Given the description of an element on the screen output the (x, y) to click on. 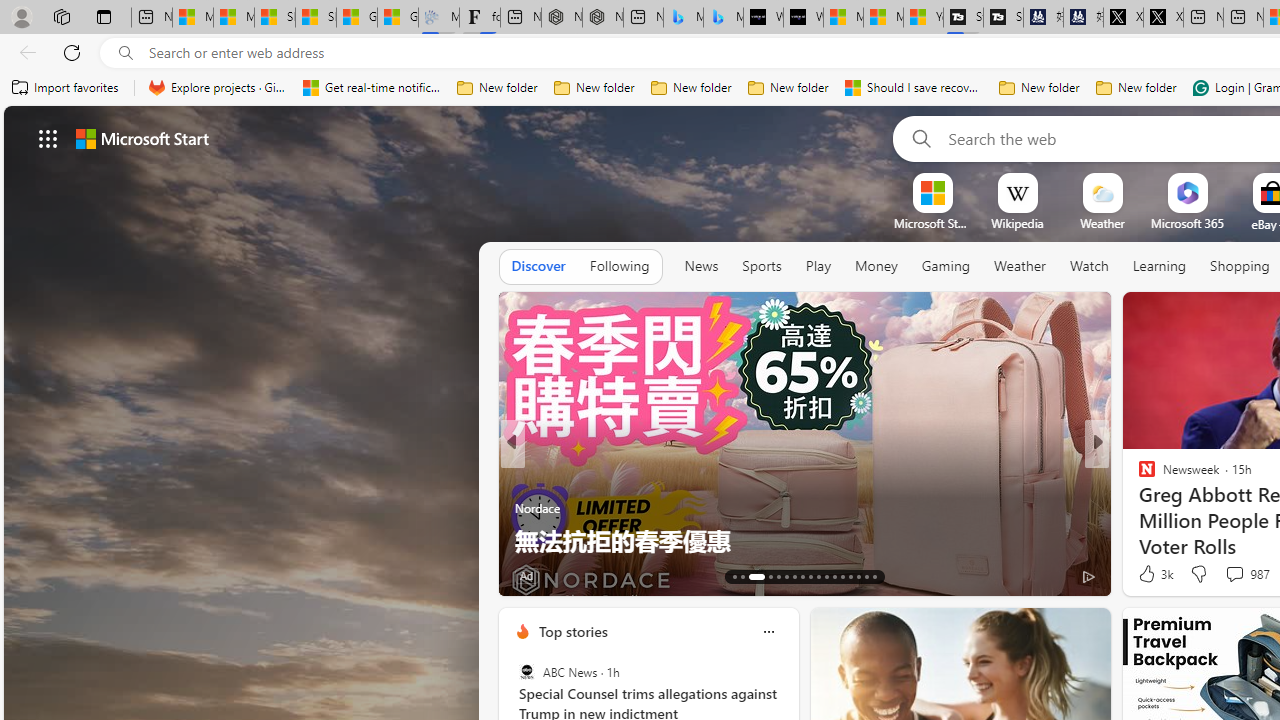
View comments 174 Comment (1247, 574)
View comments 1 Comment (1229, 575)
View comments 52 Comment (1229, 575)
AutomationID: tab-20 (801, 576)
AutomationID: tab-18 (786, 576)
79 Like (1149, 574)
View comments 2 Comment (1234, 574)
